Given the description of an element on the screen output the (x, y) to click on. 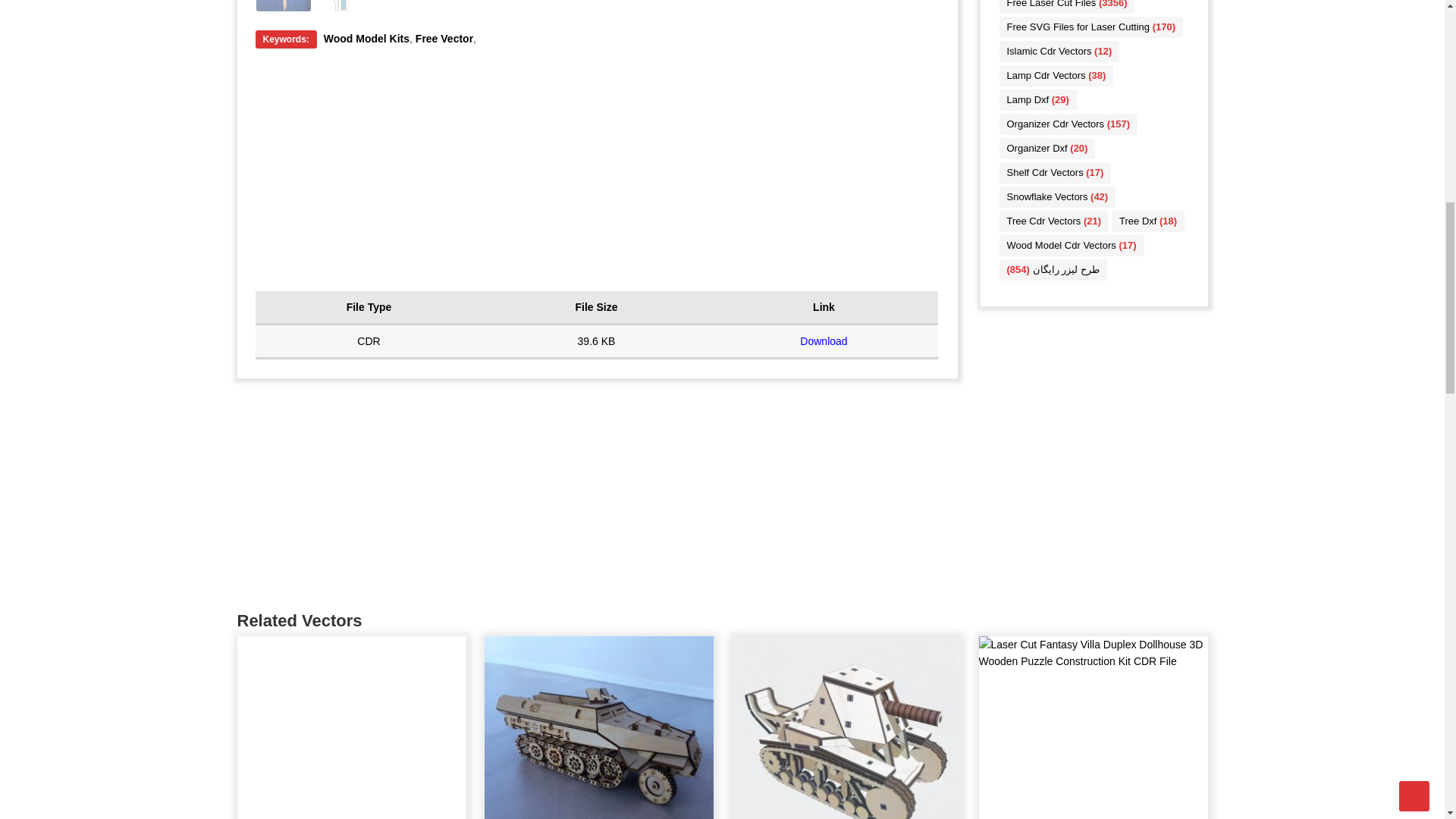
Free Vector (443, 38)
Advertisement (350, 727)
Download (823, 340)
Wood Model Kits (366, 38)
